Given the description of an element on the screen output the (x, y) to click on. 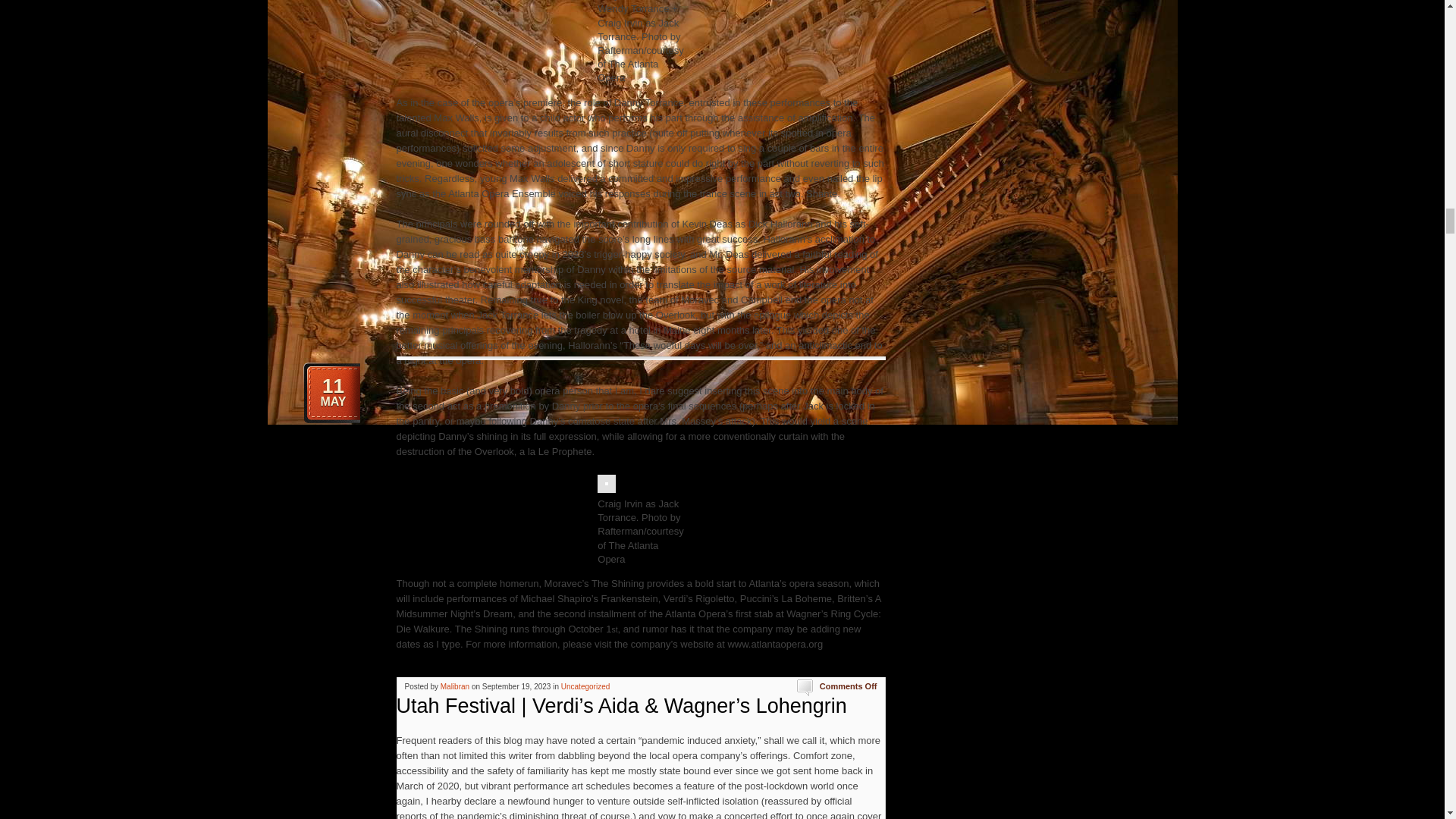
Posts by Malibran (454, 686)
Malibran (454, 686)
Uncategorized (585, 686)
